Given the description of an element on the screen output the (x, y) to click on. 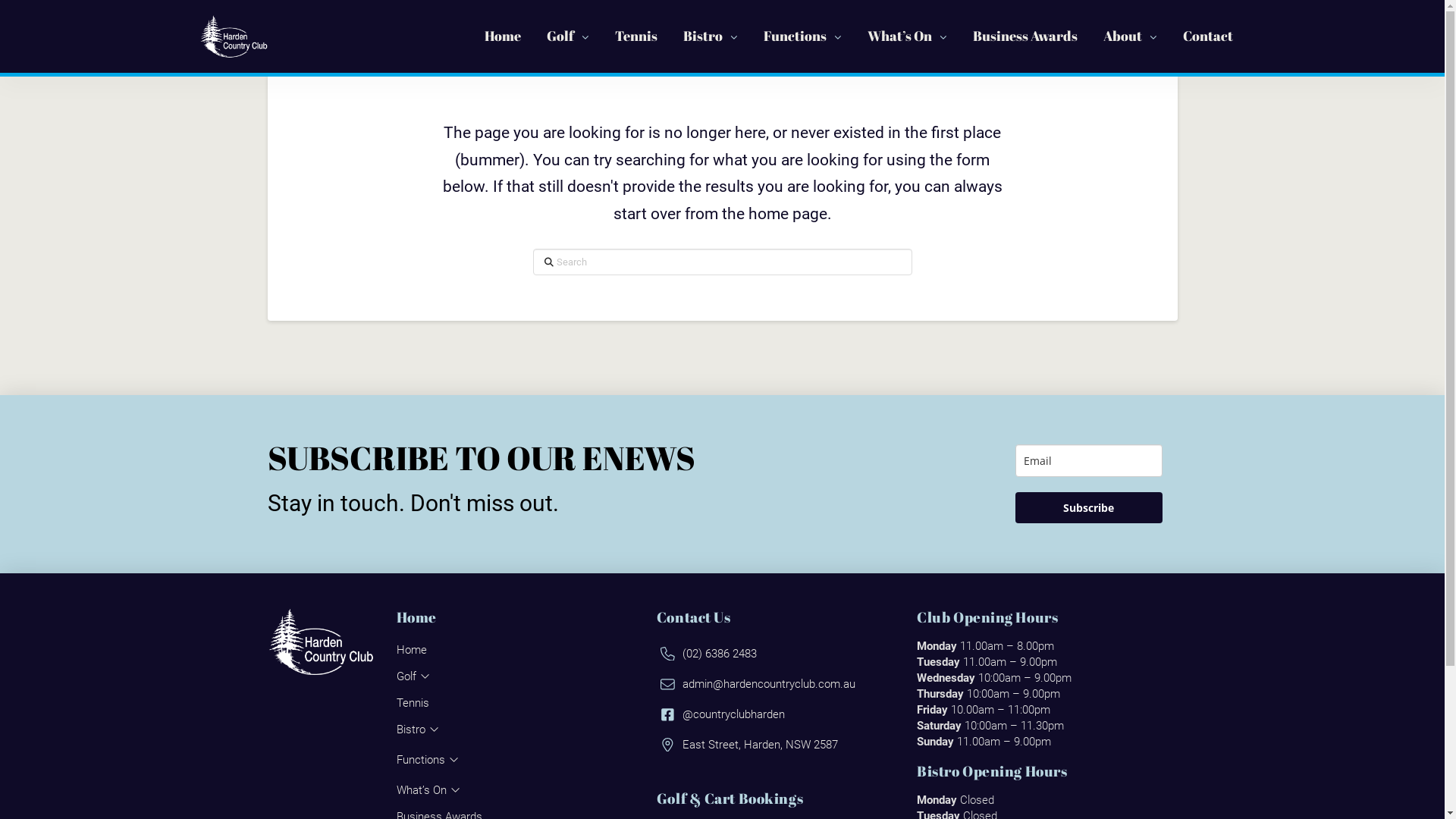
East Street, Harden, NSW 2587 Element type: text (748, 744)
Tennis Element type: text (415, 702)
Functions Element type: text (802, 36)
Home Element type: text (414, 649)
Golf Element type: text (567, 36)
Functions Element type: text (432, 759)
Bistro Element type: text (710, 36)
Tennis Element type: text (636, 36)
admin@hardencountryclub.com.au Element type: text (757, 683)
Contact Element type: text (1207, 36)
Home Element type: text (502, 36)
Business Awards Element type: text (1025, 36)
Bistro Element type: text (422, 729)
(02) 6386 2483 Element type: text (708, 653)
@countryclubharden Element type: text (722, 714)
Subscribe Element type: text (1087, 507)
About Element type: text (1130, 36)
Golf Element type: text (418, 676)
